Given the description of an element on the screen output the (x, y) to click on. 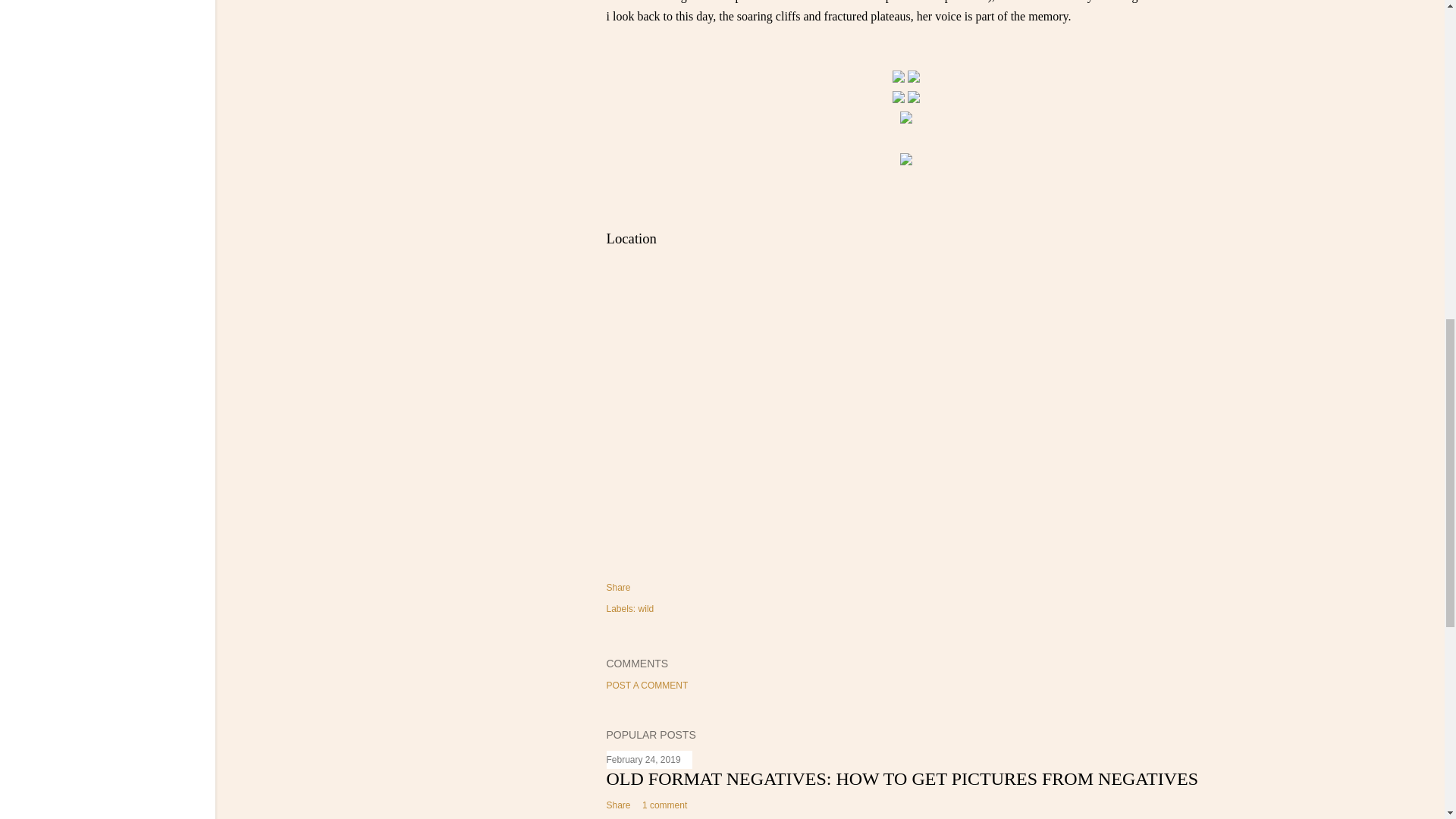
permanent link (644, 759)
Share (618, 587)
Share (618, 805)
1 comment (664, 805)
OLD FORMAT NEGATIVES: HOW TO GET PICTURES FROM NEGATIVES (902, 778)
February 24, 2019 (644, 759)
wild (646, 608)
POST A COMMENT (647, 685)
